Given the description of an element on the screen output the (x, y) to click on. 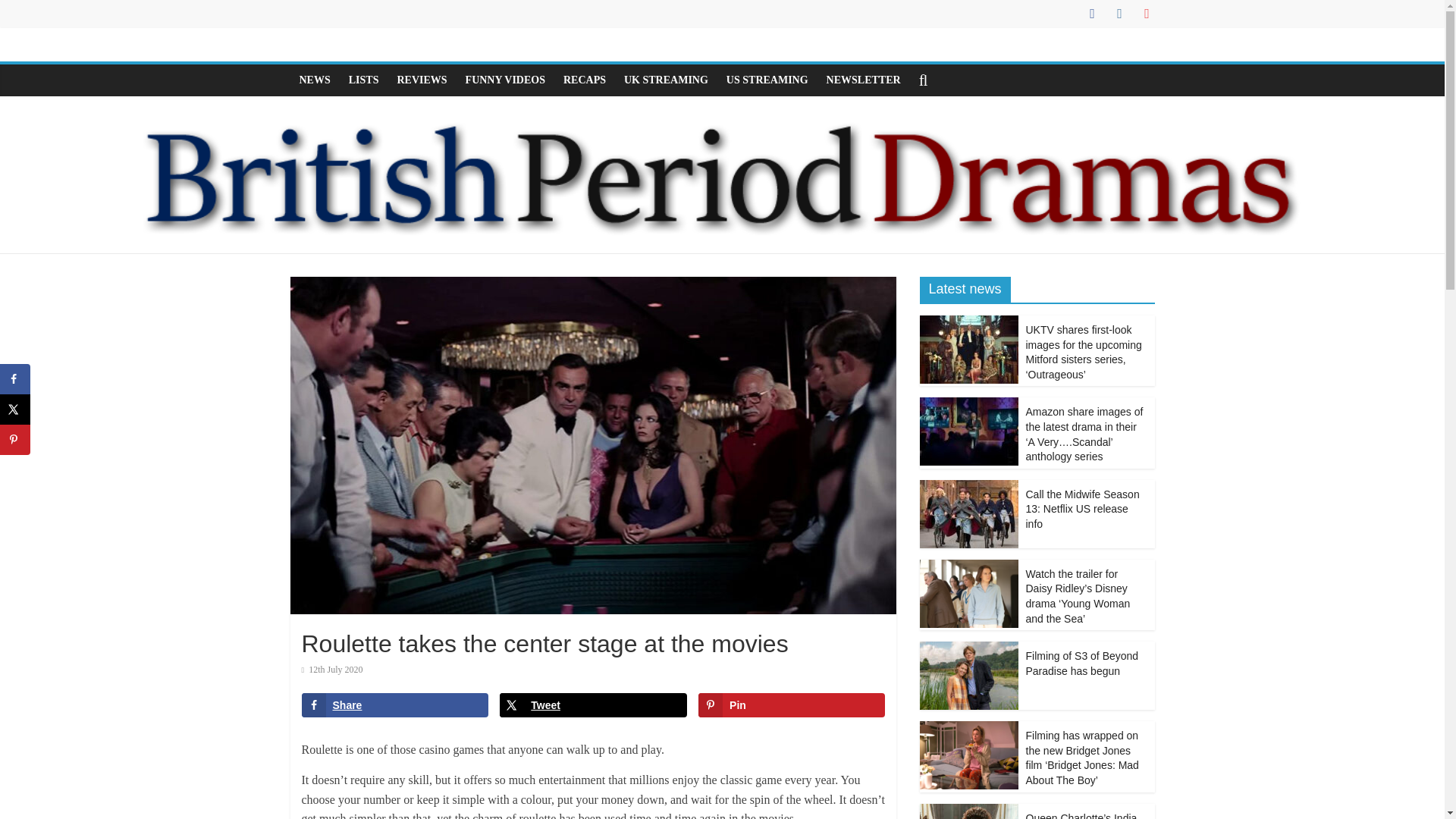
REVIEWS (421, 80)
12th July 2020 (331, 669)
US STREAMING (766, 80)
LISTS (363, 80)
12:00 am (331, 669)
Tweet (592, 704)
RECAPS (584, 80)
Share (394, 704)
Save to Pinterest (791, 704)
Share on Facebook (394, 704)
